Given the description of an element on the screen output the (x, y) to click on. 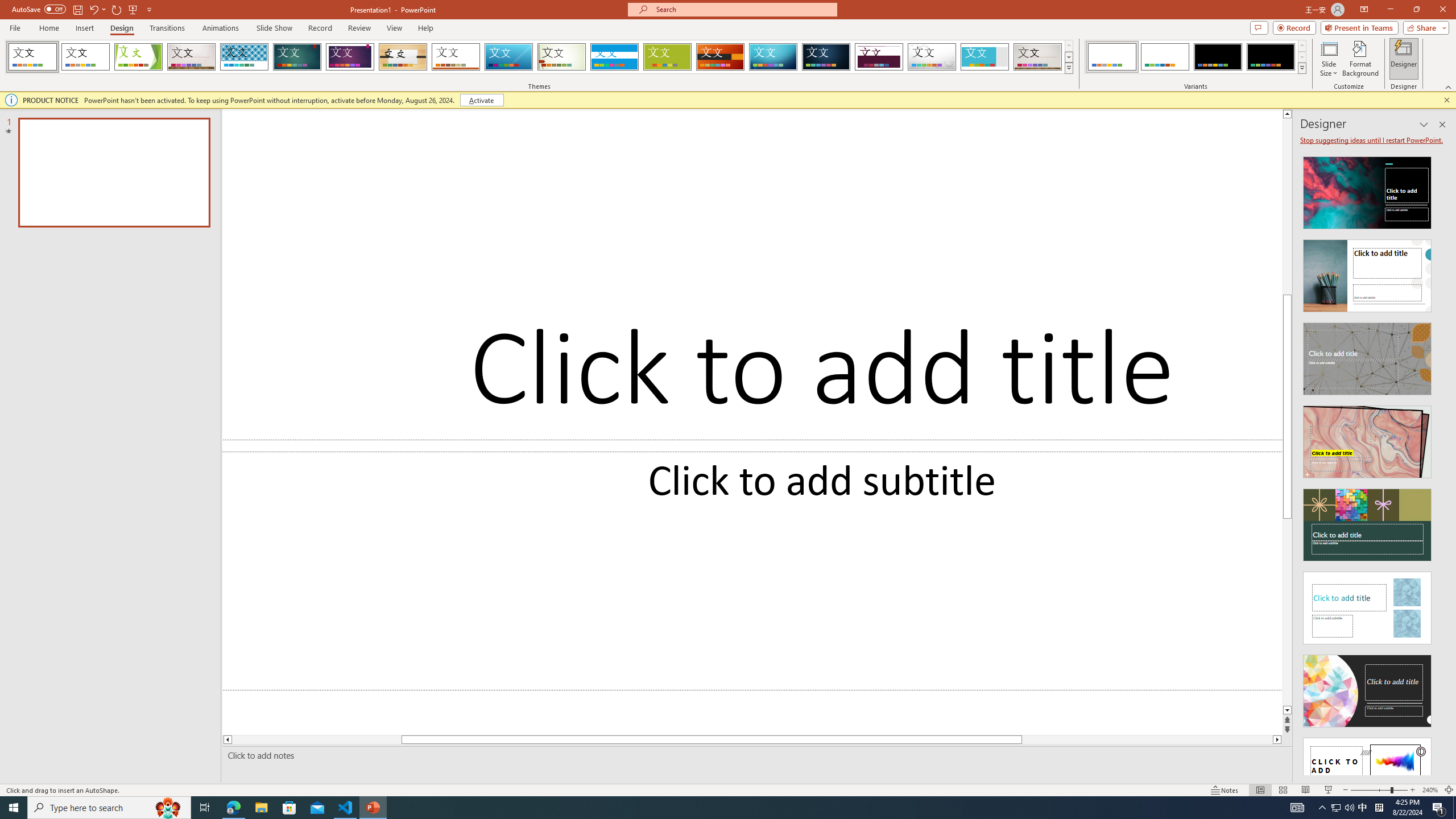
Damask (826, 56)
Office Theme Variant 2 (1164, 56)
Recommended Design: Design Idea (1366, 189)
Office Theme (85, 56)
Office Theme Variant 3 (1217, 56)
Ion (296, 56)
Design Idea (1366, 770)
